Given the description of an element on the screen output the (x, y) to click on. 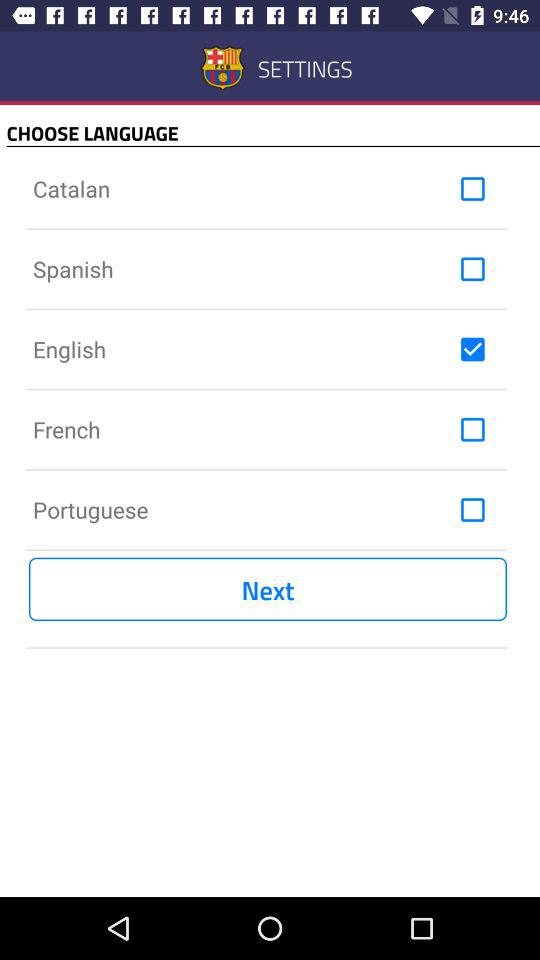
toggle spanish language (472, 269)
